Given the description of an element on the screen output the (x, y) to click on. 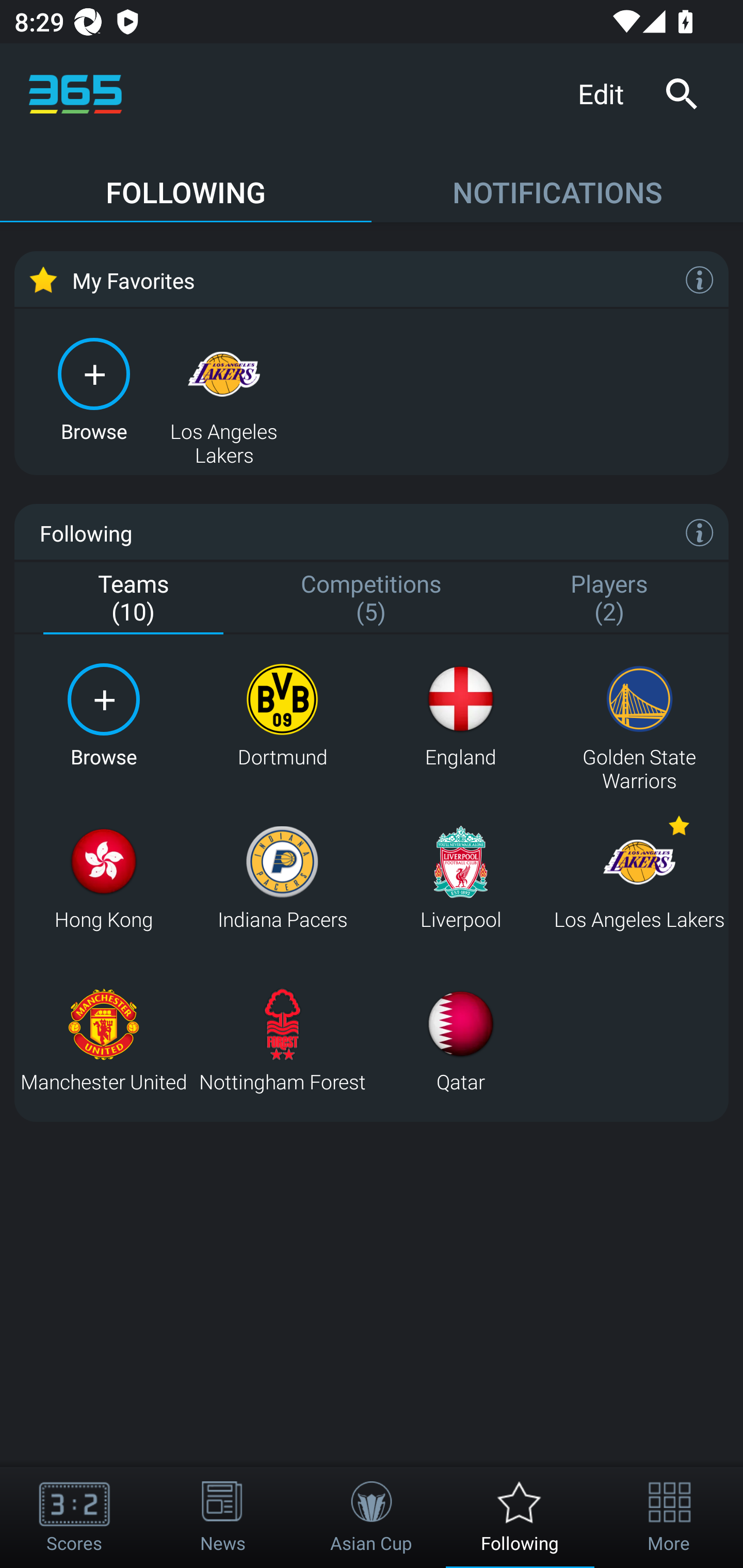
Search (681, 93)
Edit (608, 93)
FOLLOWING (185, 183)
NOTIFICATIONS (557, 183)
Browse (93, 387)
Los Angeles Lakers (224, 387)
Competitions
(5) (371, 598)
Players
(2) (609, 598)
Browse (103, 715)
Dortmund (282, 715)
England (460, 715)
Golden State Warriors (638, 715)
Hong Kong (103, 877)
Indiana Pacers (282, 877)
Liverpool (460, 877)
Los Angeles Lakers (638, 877)
Manchester United (103, 1040)
Nottingham Forest (282, 1040)
Qatar (460, 1040)
Scores (74, 1517)
News (222, 1517)
Asian Cup (371, 1517)
More (668, 1517)
